Given the description of an element on the screen output the (x, y) to click on. 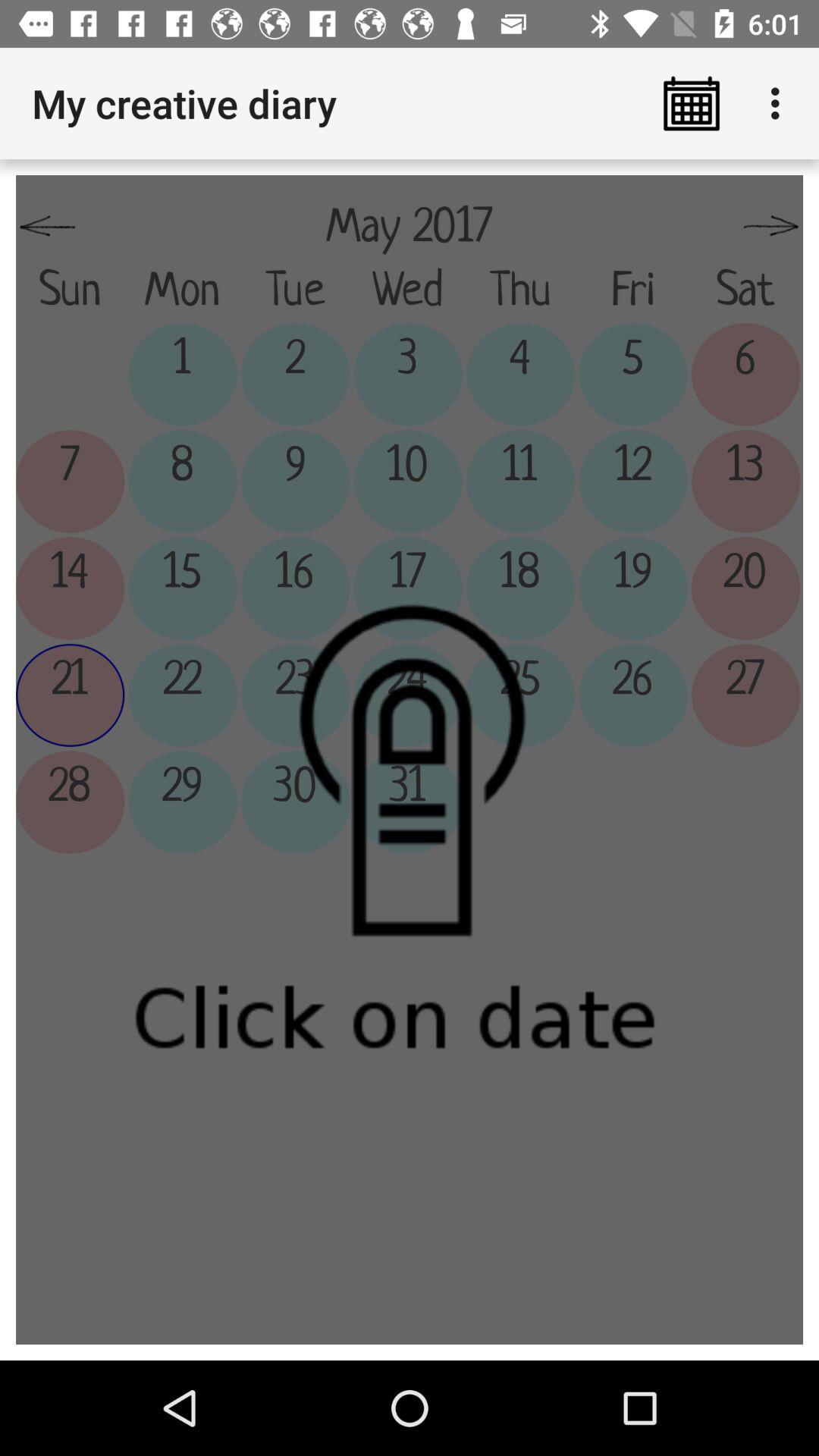
press the icon to the left of may 2017 item (47, 226)
